Given the description of an element on the screen output the (x, y) to click on. 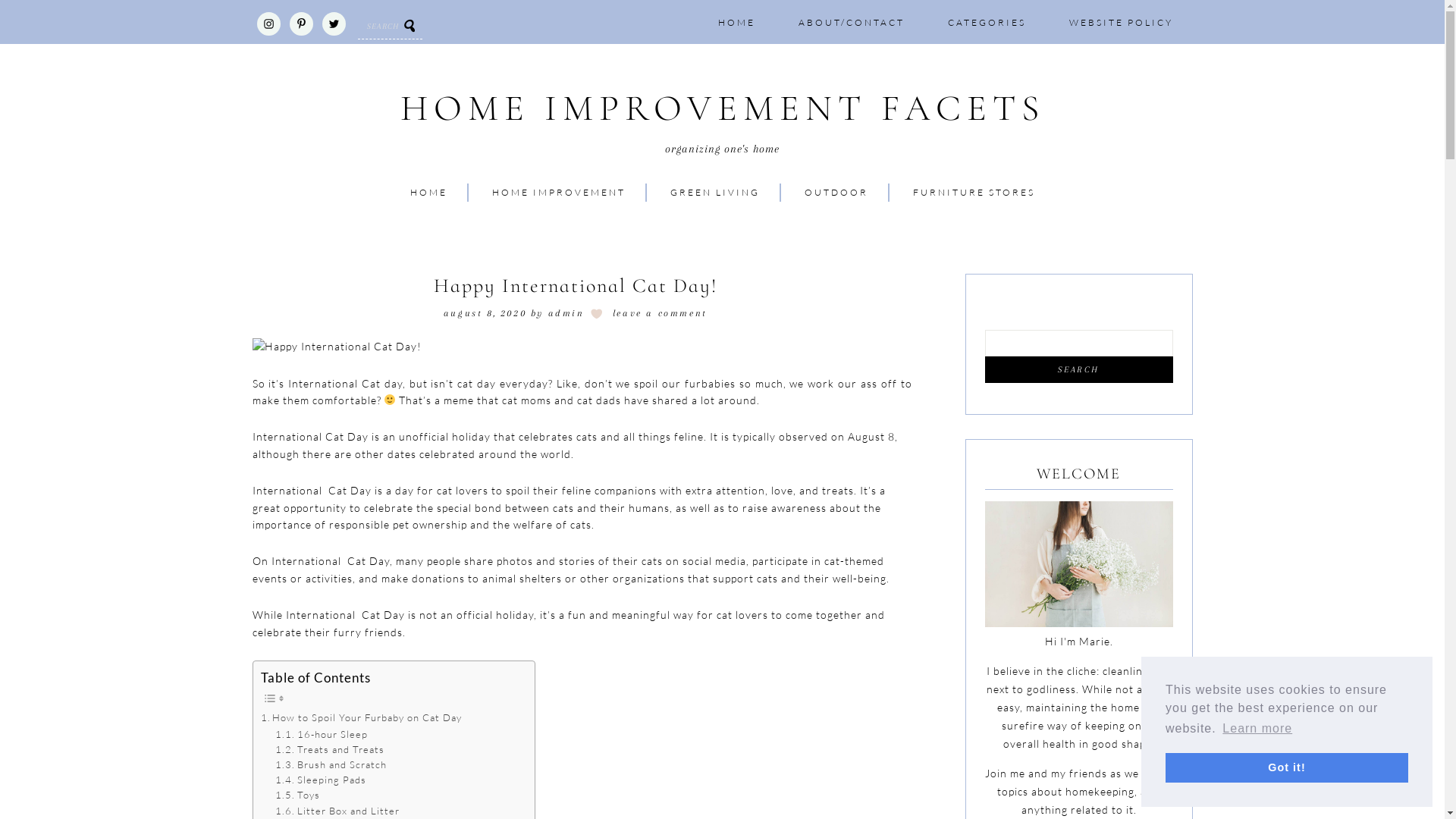
CATEGORIES Element type: text (986, 22)
Got it! Element type: text (1286, 767)
admin Element type: text (566, 312)
ABOUT/CONTACT Element type: text (850, 22)
WEBSITE POLICY Element type: text (1120, 22)
HOME Element type: text (427, 192)
Litter Box and Litter Element type: text (337, 810)
GREEN LIVING Element type: text (714, 192)
HOME IMPROVEMENT Element type: text (557, 192)
Treats and Treats Element type: text (329, 748)
How to Spoil Your Furbaby on Cat Day Element type: text (361, 717)
Search Element type: text (1078, 369)
Sleeping Pads Element type: text (320, 779)
Learn more Element type: text (1257, 728)
Happy International Cat Day! Element type: hover (335, 346)
HOME IMPROVEMENT FACETS Element type: text (721, 109)
leave a comment Element type: text (659, 312)
Brush and Scratch Element type: text (330, 763)
OUTDOOR Element type: text (835, 192)
HOME Element type: text (735, 22)
16-hour Sleep Element type: text (321, 733)
Toys Element type: text (297, 794)
FURNITURE STORES Element type: text (973, 192)
